Given the description of an element on the screen output the (x, y) to click on. 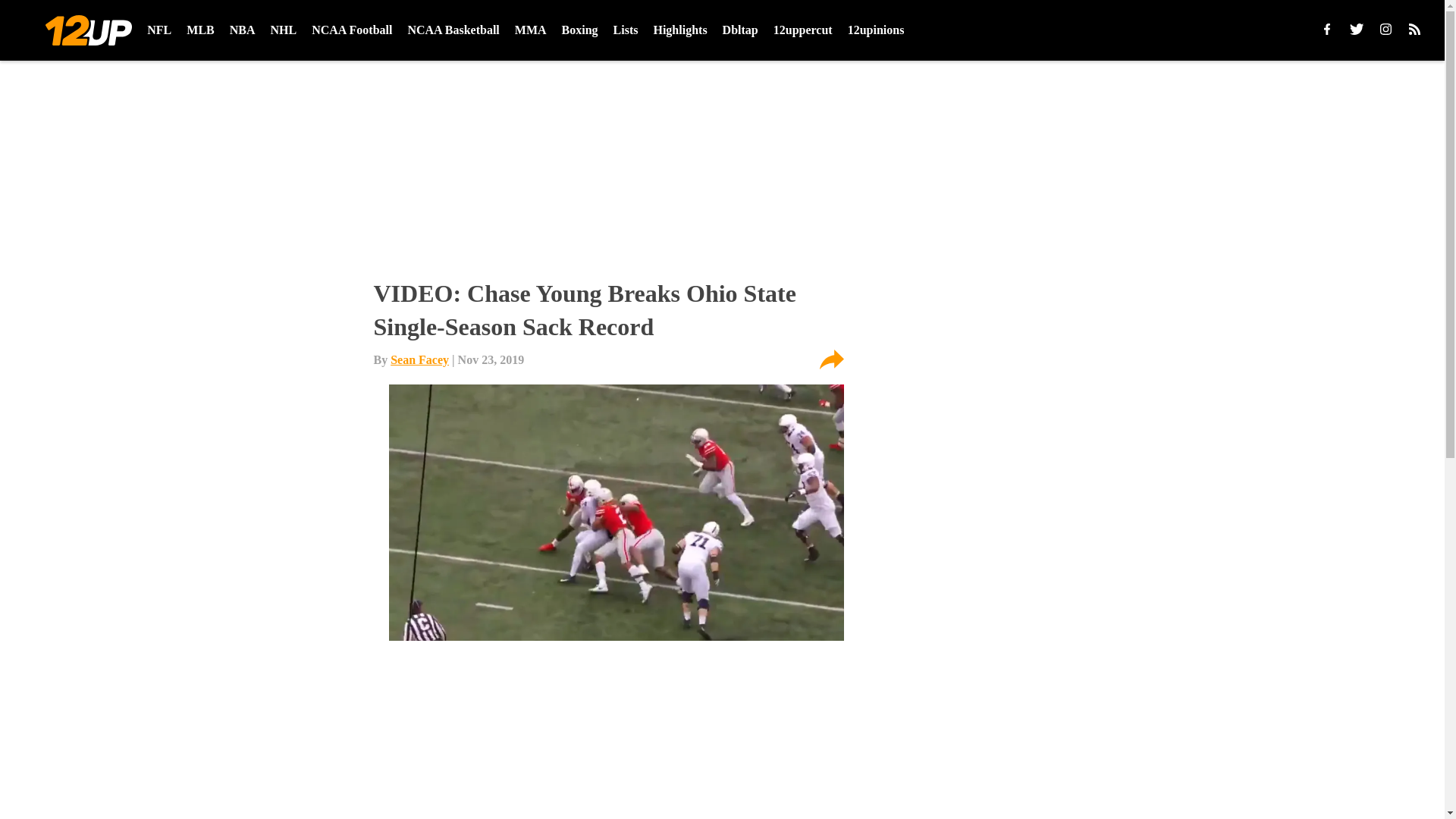
NFL (159, 30)
NBA (243, 30)
Dbltap (740, 30)
12uppercut (802, 30)
Sean Facey (419, 359)
NCAA Basketball (453, 30)
Lists (625, 30)
MMA (531, 30)
12upinions (875, 30)
Boxing (580, 30)
